Given the description of an element on the screen output the (x, y) to click on. 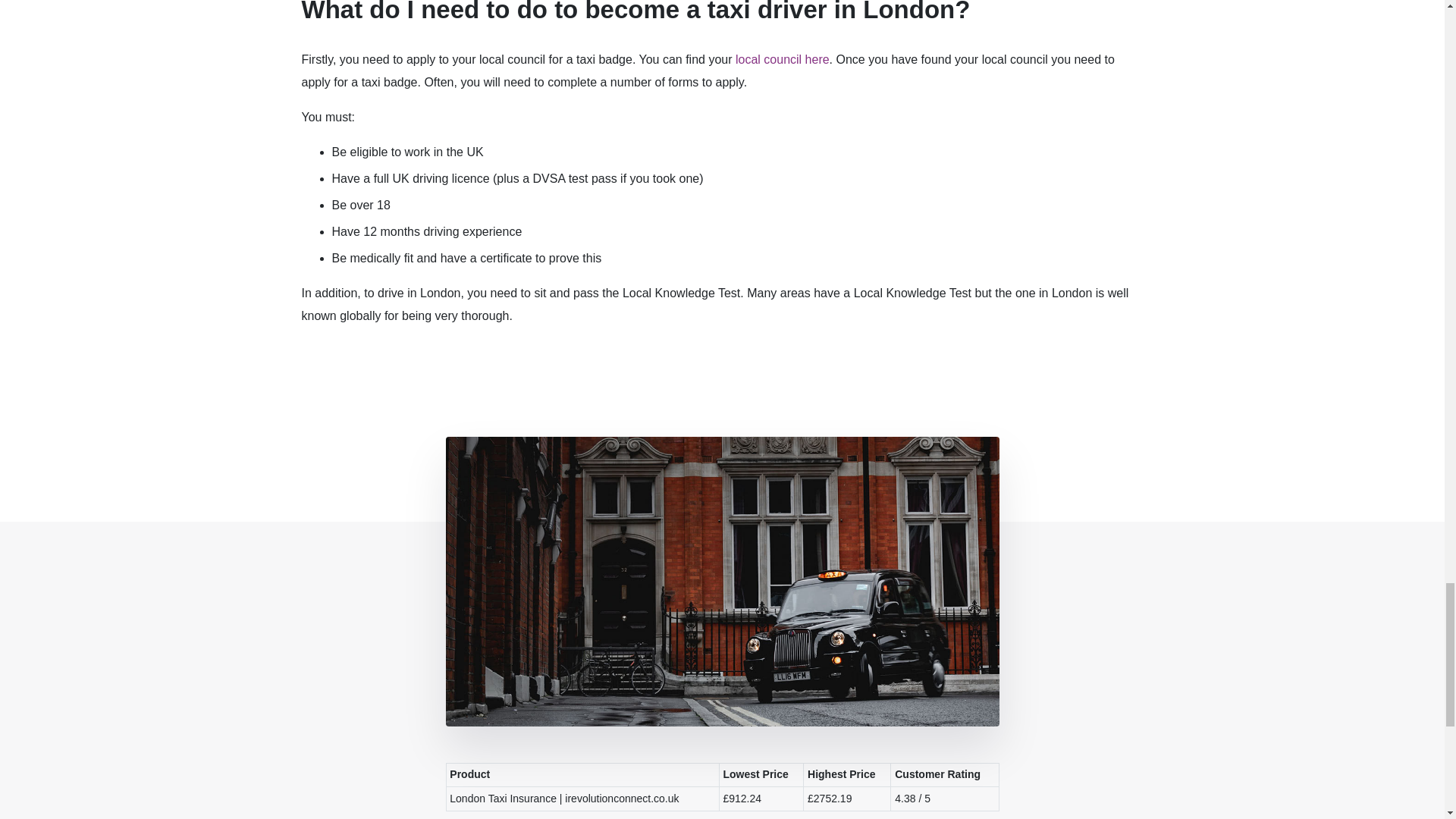
local council here (782, 59)
